Given the description of an element on the screen output the (x, y) to click on. 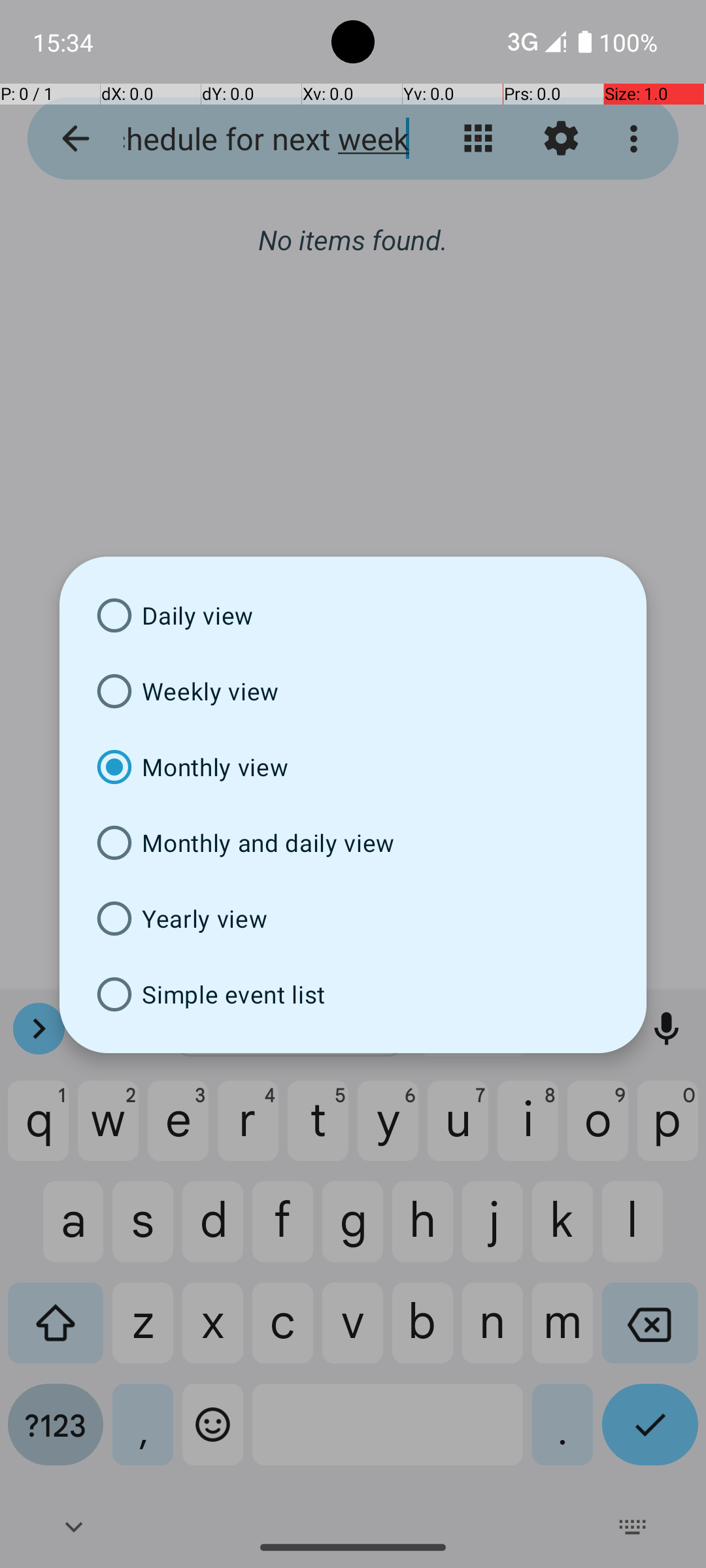
Daily view Element type: android.widget.RadioButton (352, 615)
Weekly view Element type: android.widget.RadioButton (352, 691)
Monthly view Element type: android.widget.RadioButton (352, 766)
Monthly and daily view Element type: android.widget.RadioButton (352, 842)
Yearly view Element type: android.widget.RadioButton (352, 918)
Simple event list Element type: android.widget.RadioButton (352, 994)
